Given the description of an element on the screen output the (x, y) to click on. 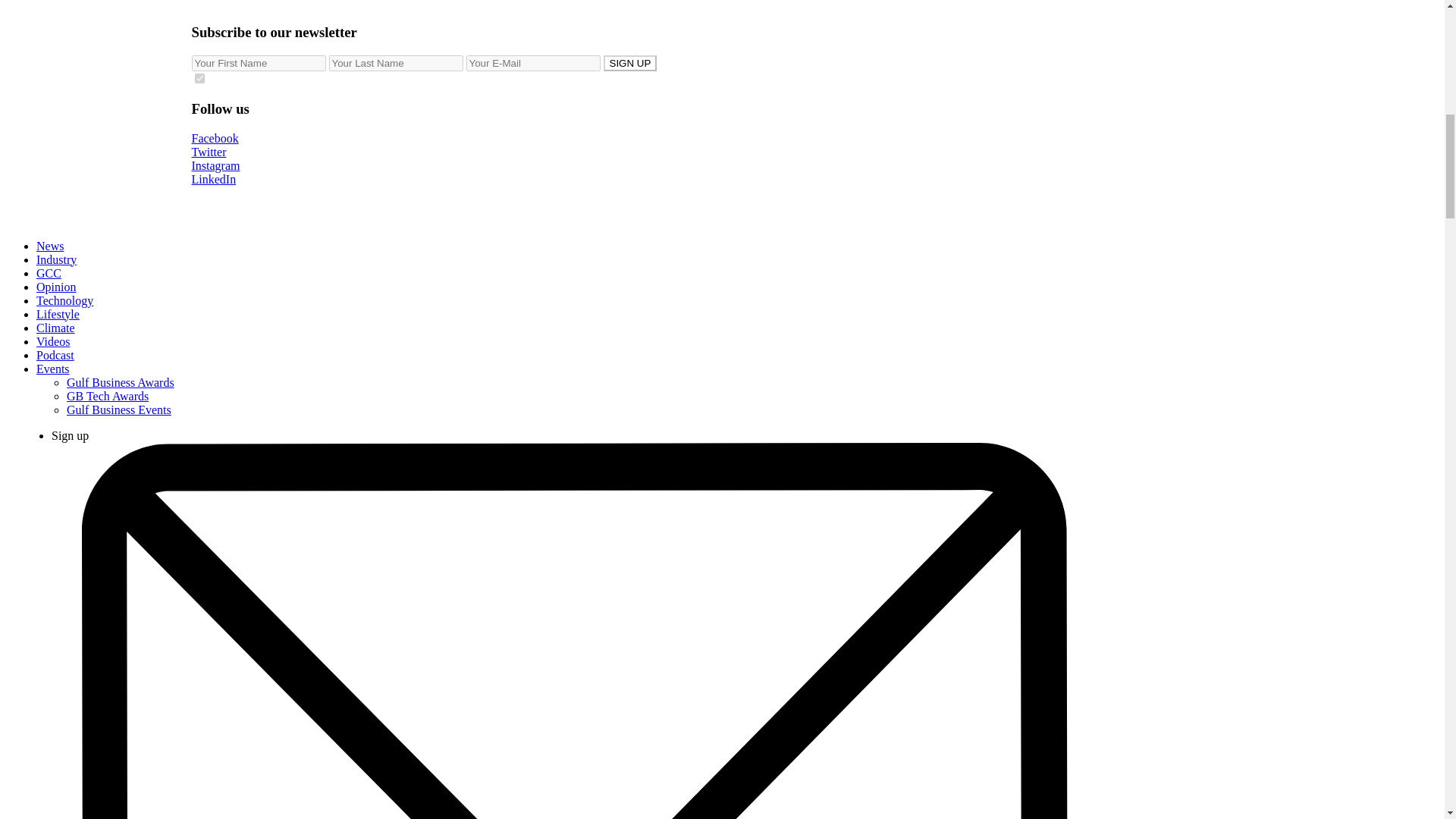
Facebook (721, 138)
SIGN UP (631, 63)
on (198, 78)
Twitter (721, 151)
